Given the description of an element on the screen output the (x, y) to click on. 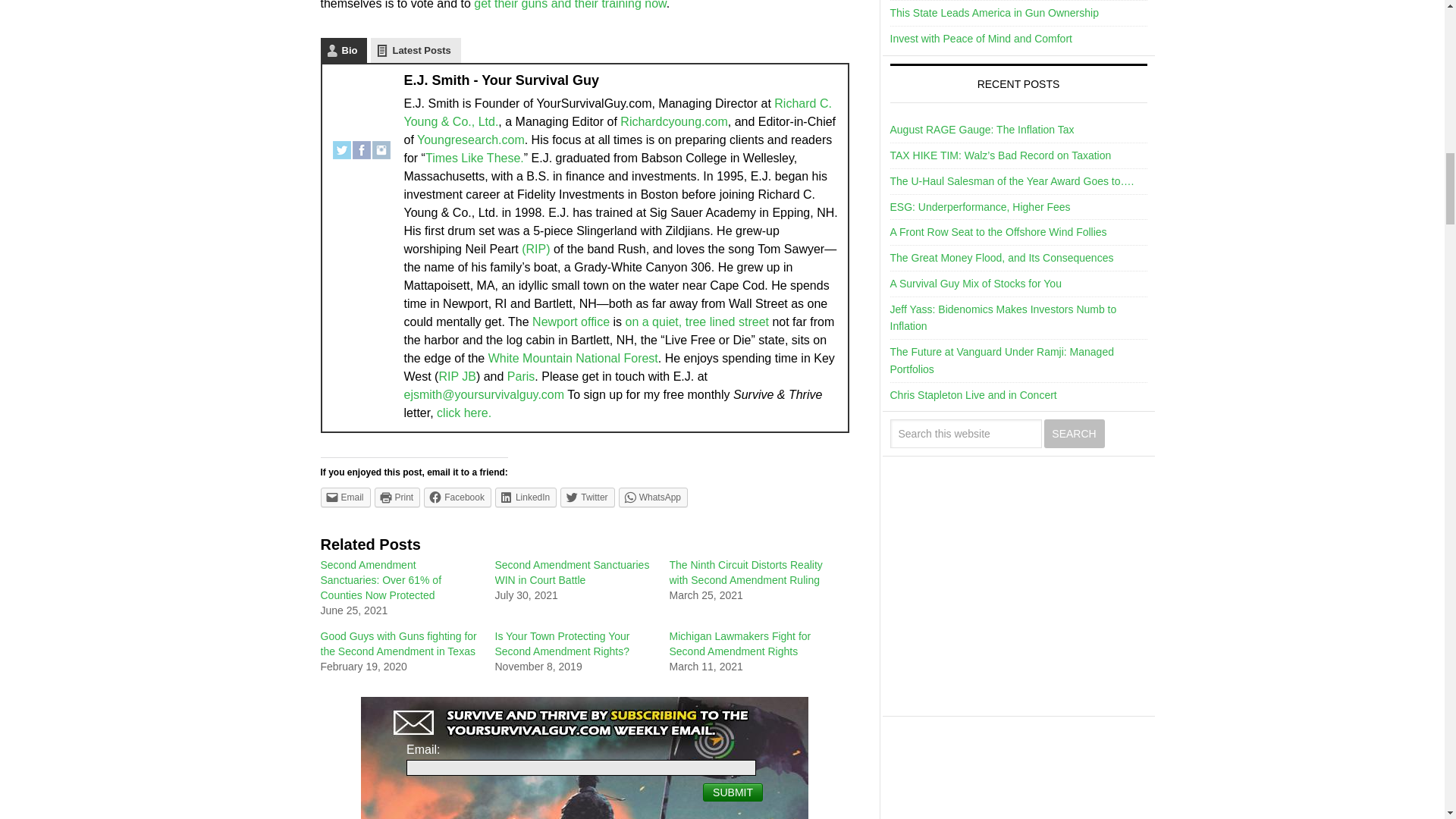
Click to share on Facebook (457, 496)
Instagram (380, 143)
Facebook (360, 143)
Search (1073, 433)
Click to share on LinkedIn (525, 496)
Click to email this to a friend (344, 496)
Click to share on WhatsApp (652, 496)
Click to print (397, 496)
Twitter (340, 143)
